Given the description of an element on the screen output the (x, y) to click on. 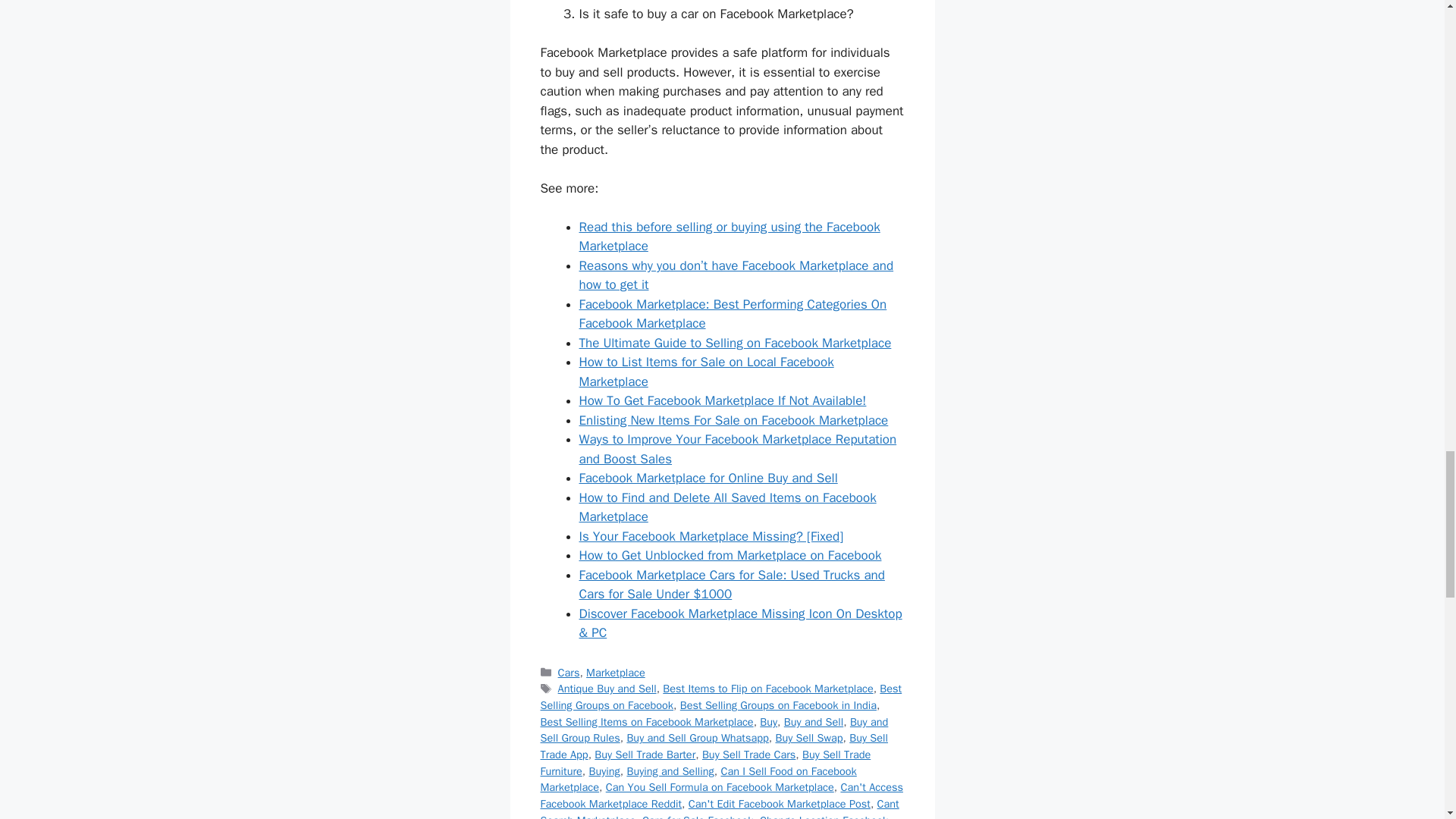
How to Get Unblocked from Marketplace on Facebook (730, 555)
Cars (568, 672)
Best Selling Items on Facebook Marketplace (646, 721)
Facebook Marketplace for Online Buy and Sell (708, 478)
How to List Items for Sale on Local Facebook Marketplace (706, 371)
Enlisting New Items For Sale on Facebook Marketplace (733, 420)
Best Items to Flip on Facebook Marketplace (767, 688)
Best Selling Groups on Facebook in India (777, 704)
How To Get Facebook Marketplace If Not Available! (722, 400)
Marketplace (615, 672)
The Ultimate Guide to Selling on Facebook Marketplace (735, 342)
Best Selling Groups on Facebook (720, 696)
